Given the description of an element on the screen output the (x, y) to click on. 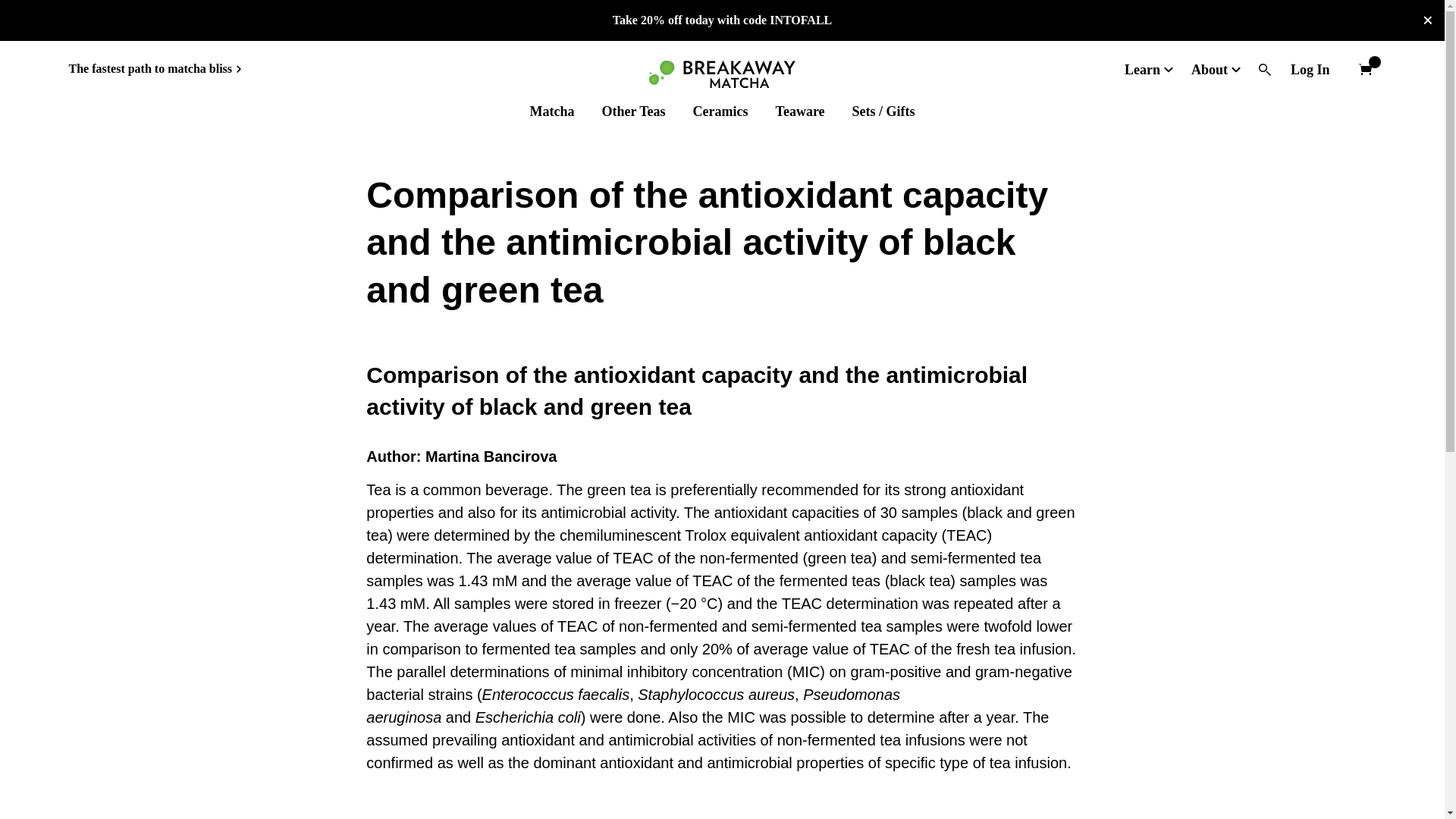
Teaware (800, 111)
Matcha (551, 111)
The fastest path to matcha bliss (154, 68)
Log In (1310, 69)
Other Teas (633, 111)
Ceramics (720, 111)
Learn (1143, 69)
About (1211, 69)
